Given the description of an element on the screen output the (x, y) to click on. 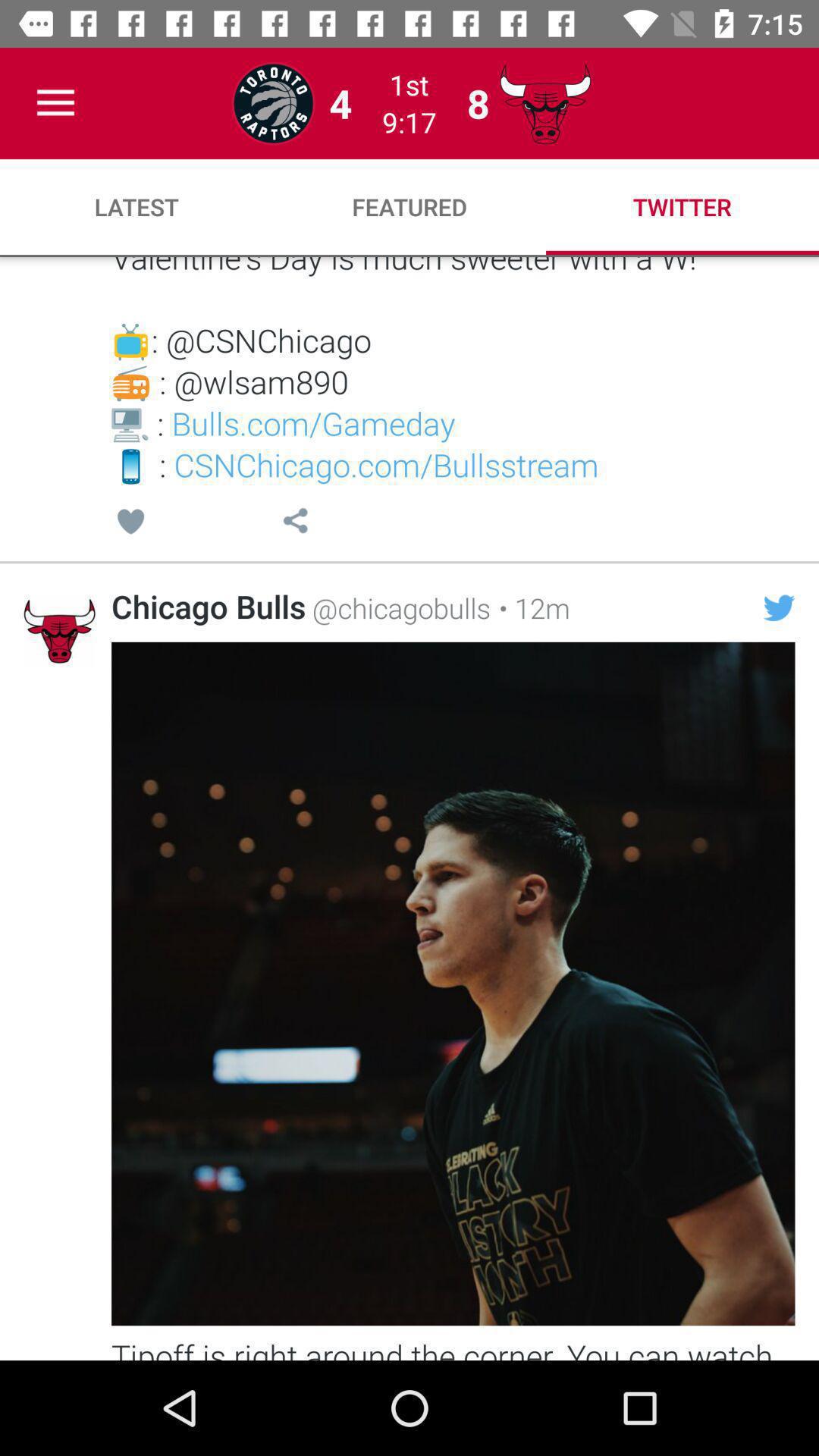
select the image which is below the chicago bulls (453, 983)
select the bird icon which is in blue color (779, 608)
the label shown next to 8 at the top of the page (545, 103)
